Given the description of an element on the screen output the (x, y) to click on. 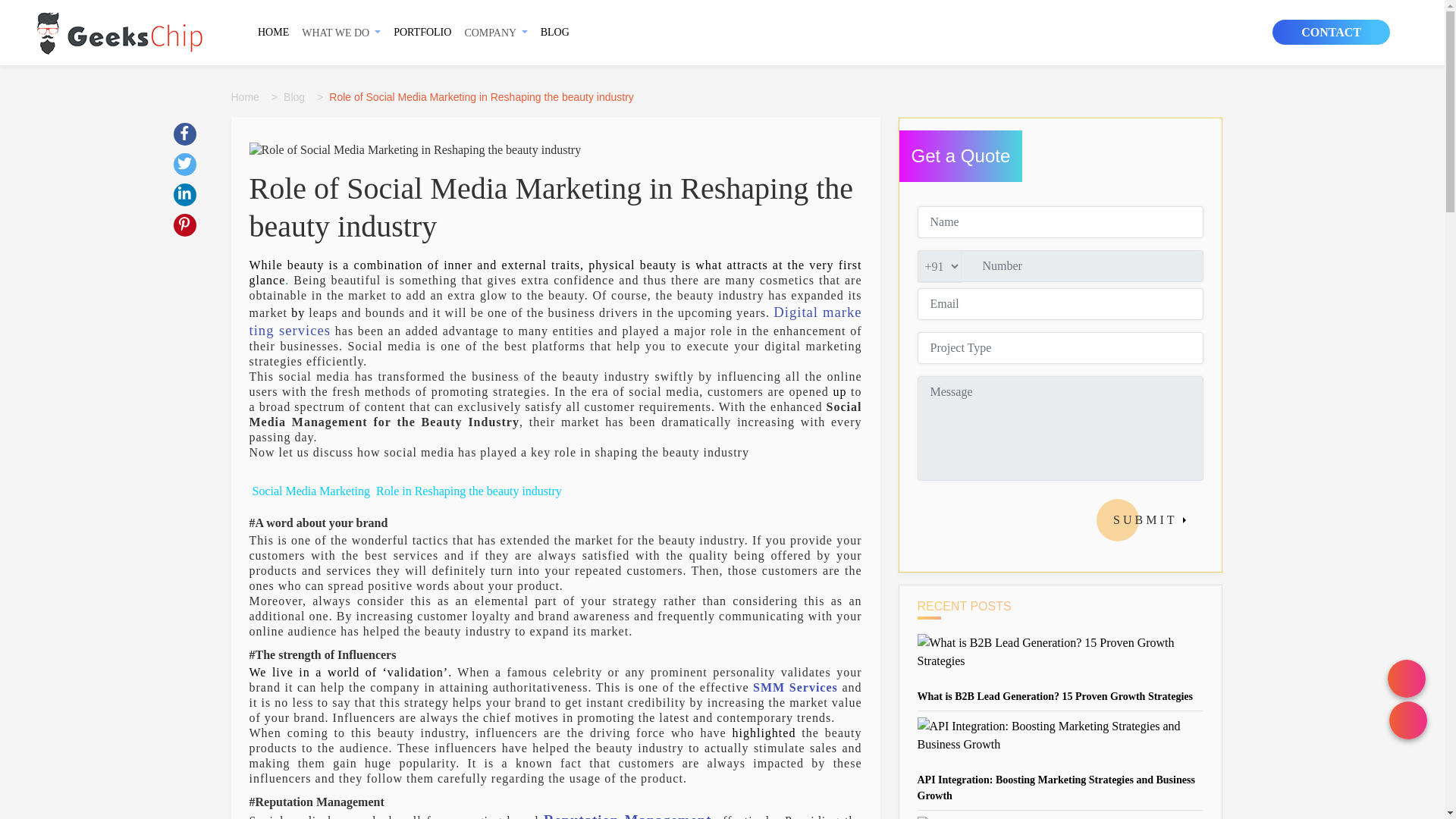
HOME (273, 31)
PORTFOLIO (422, 31)
Home (247, 96)
What is B2B Lead Generation? 15 Proven Growth Strategies (1054, 696)
WHAT WE DO (341, 32)
Reputation Management (627, 815)
BLOG (554, 31)
Digital marketing services (554, 320)
SMM Services (795, 686)
